Given the description of an element on the screen output the (x, y) to click on. 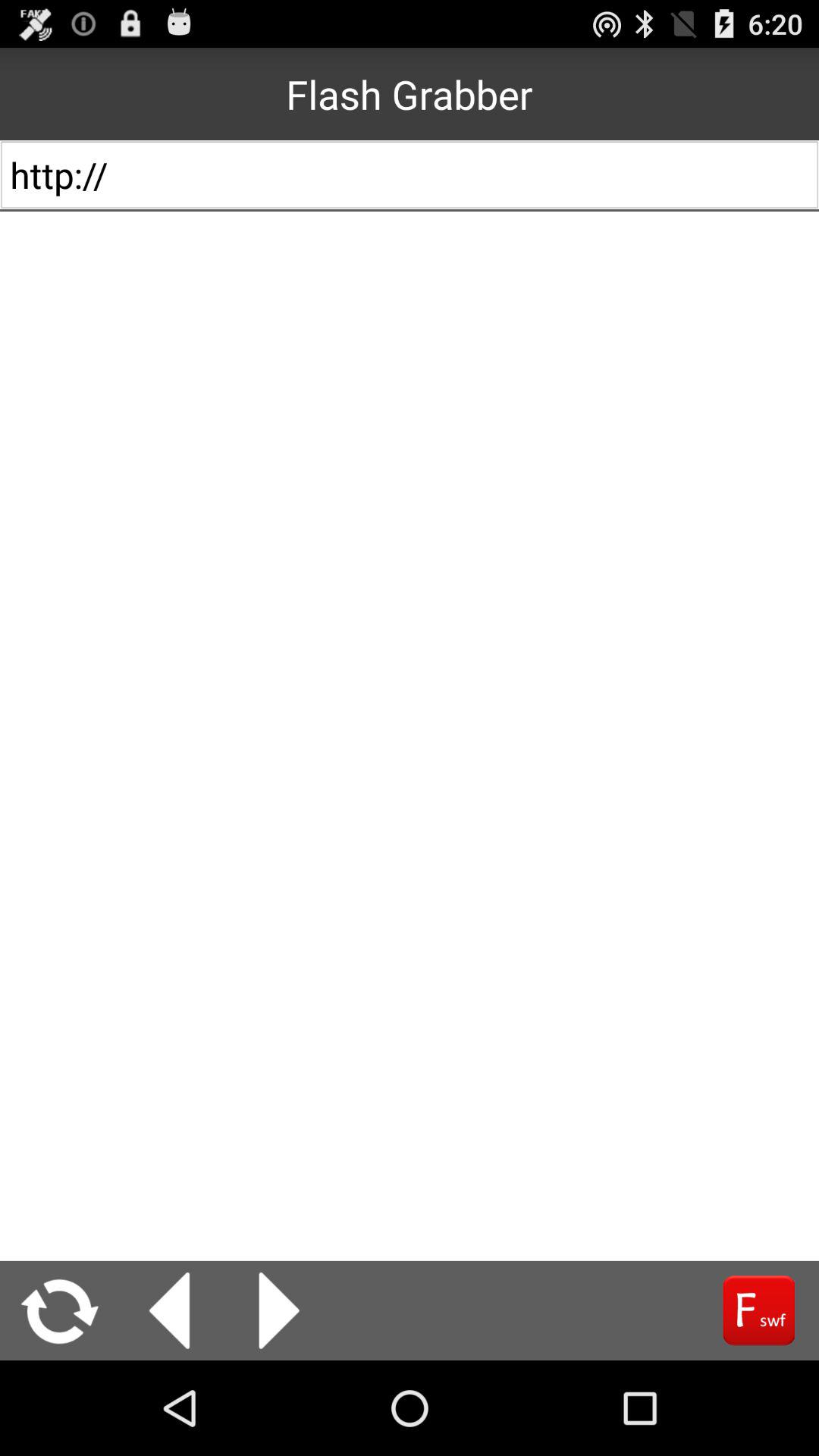
go to previous screen in the app (169, 1310)
